Given the description of an element on the screen output the (x, y) to click on. 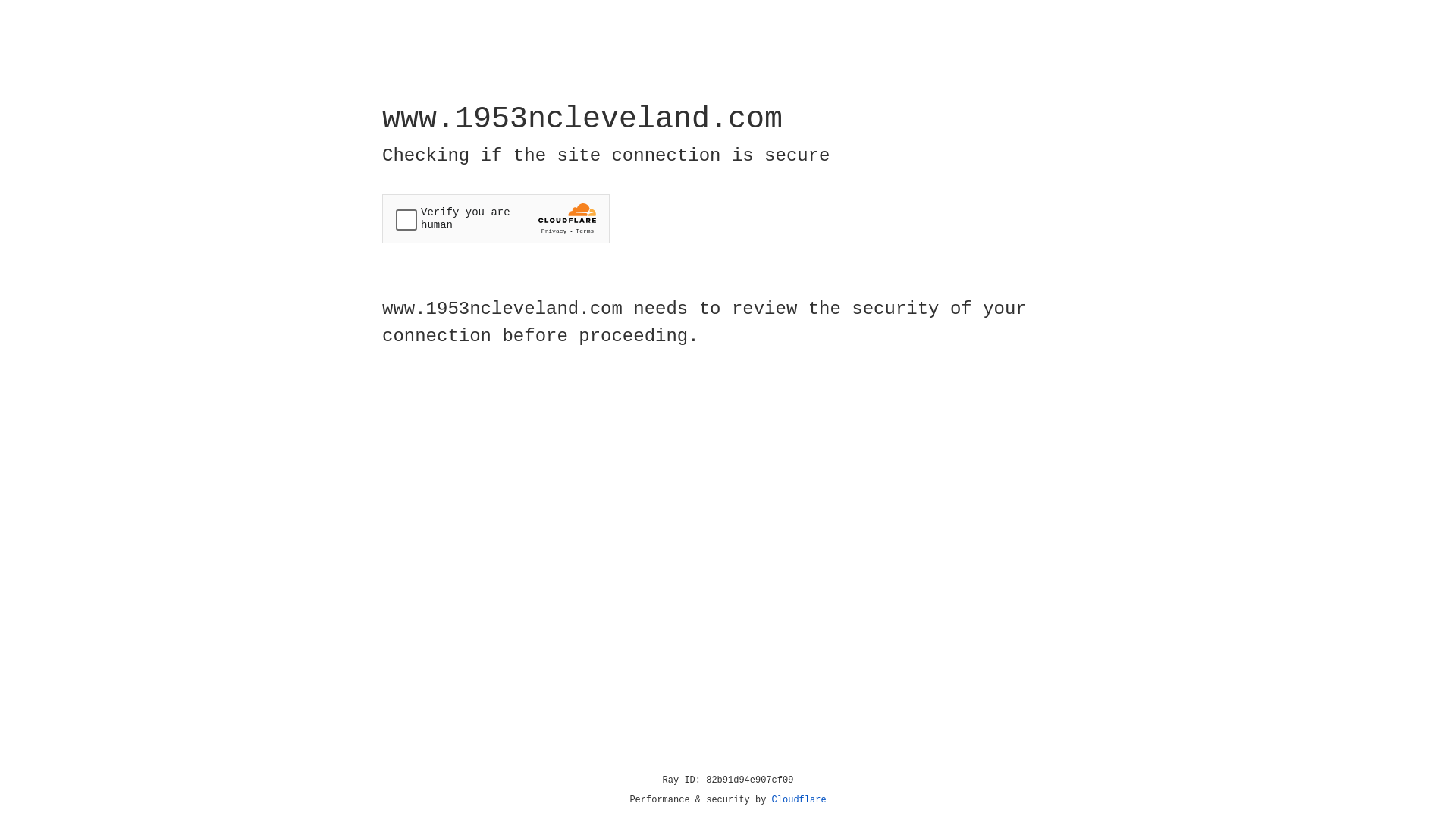
Cloudflare Element type: text (798, 799)
Widget containing a Cloudflare security challenge Element type: hover (495, 218)
